Given the description of an element on the screen output the (x, y) to click on. 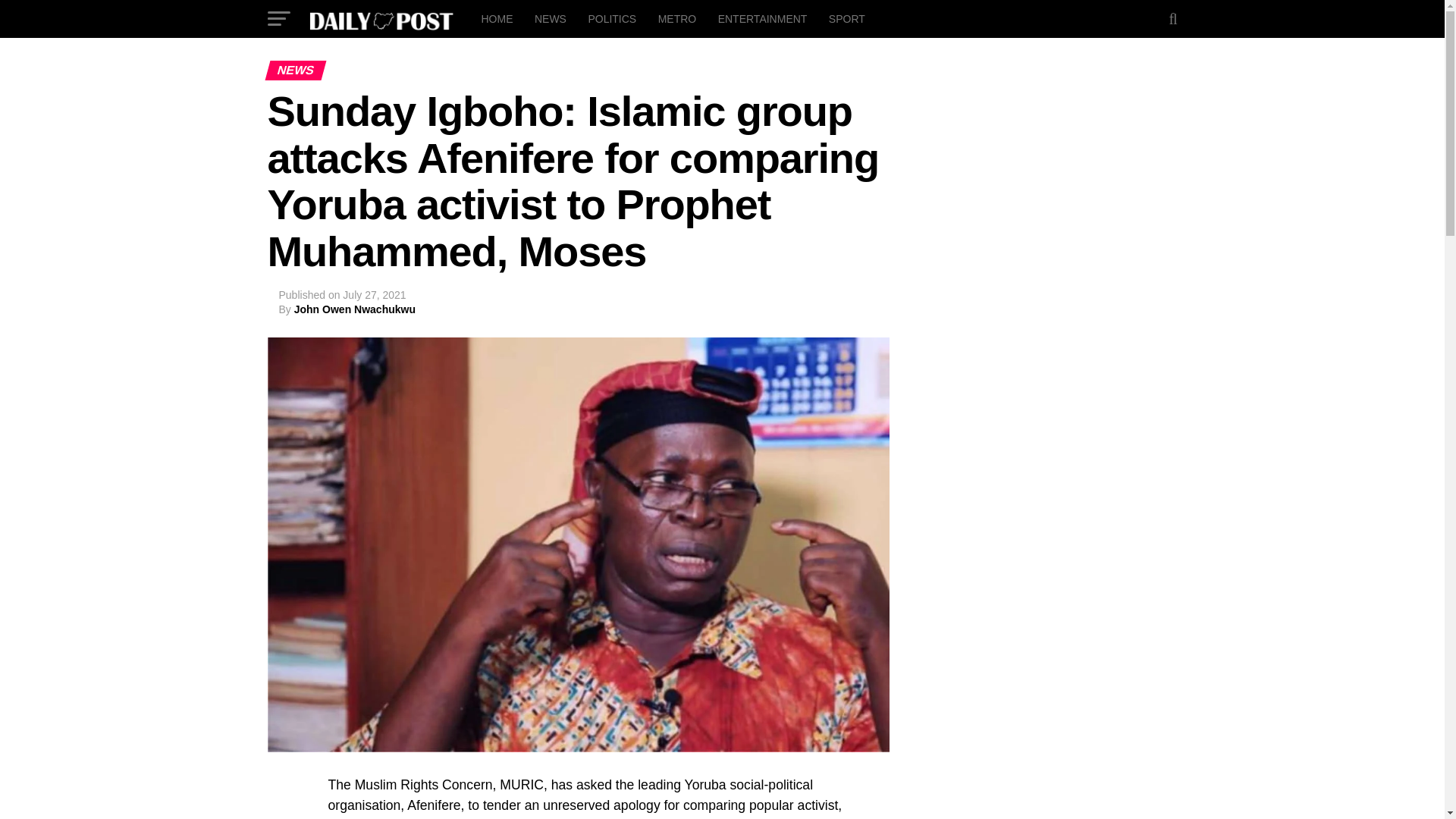
SPORT (847, 18)
METRO (677, 18)
Posts by John Owen Nwachukwu (354, 309)
ENTERTAINMENT (762, 18)
HOME (496, 18)
John Owen Nwachukwu (354, 309)
POLITICS (611, 18)
NEWS (550, 18)
